Given the description of an element on the screen output the (x, y) to click on. 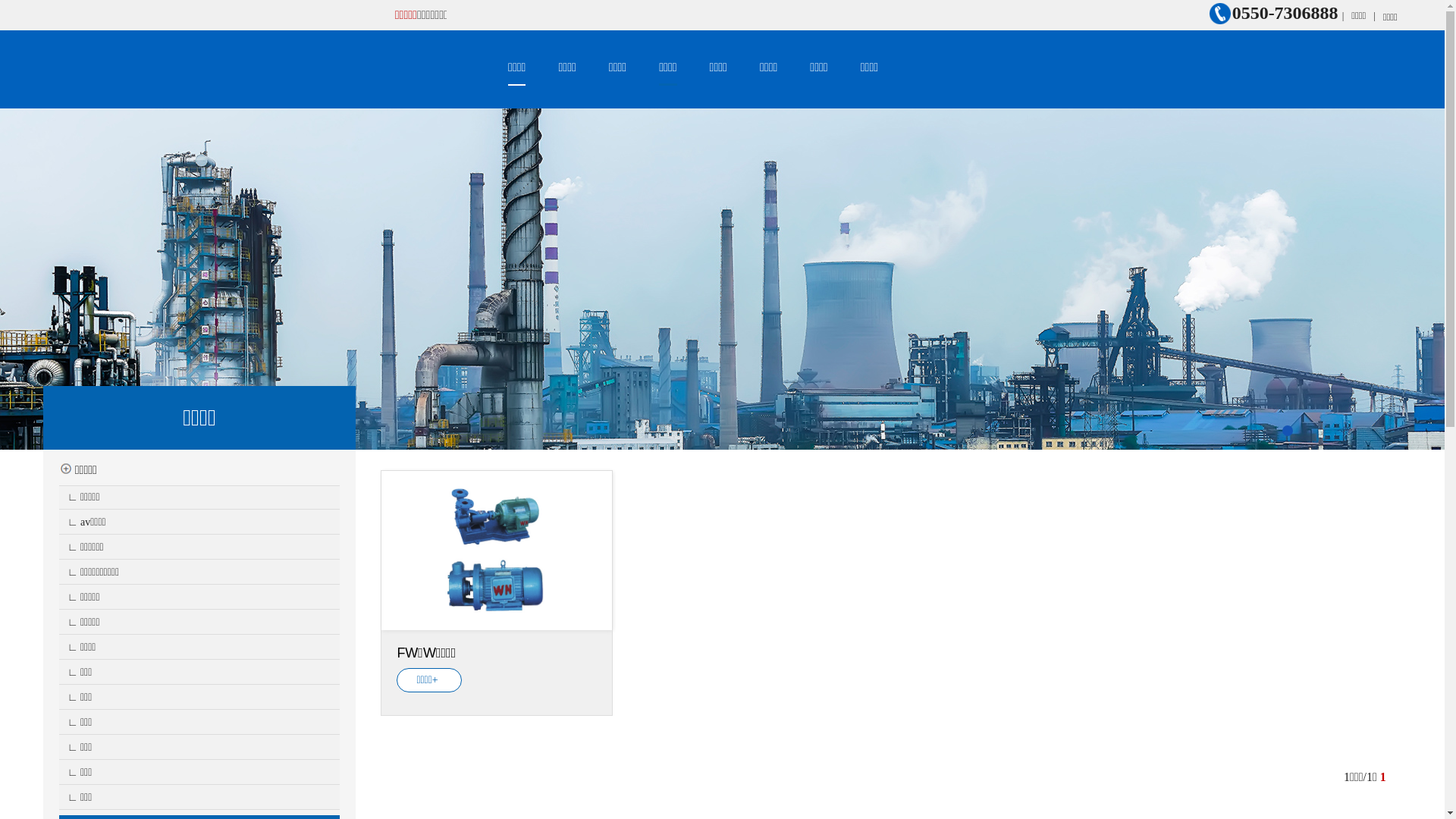
Previous Element type: text (55, 309)
Next Element type: text (1388, 309)
| Element type: text (1374, 15)
| Element type: text (1343, 15)
